Given the description of an element on the screen output the (x, y) to click on. 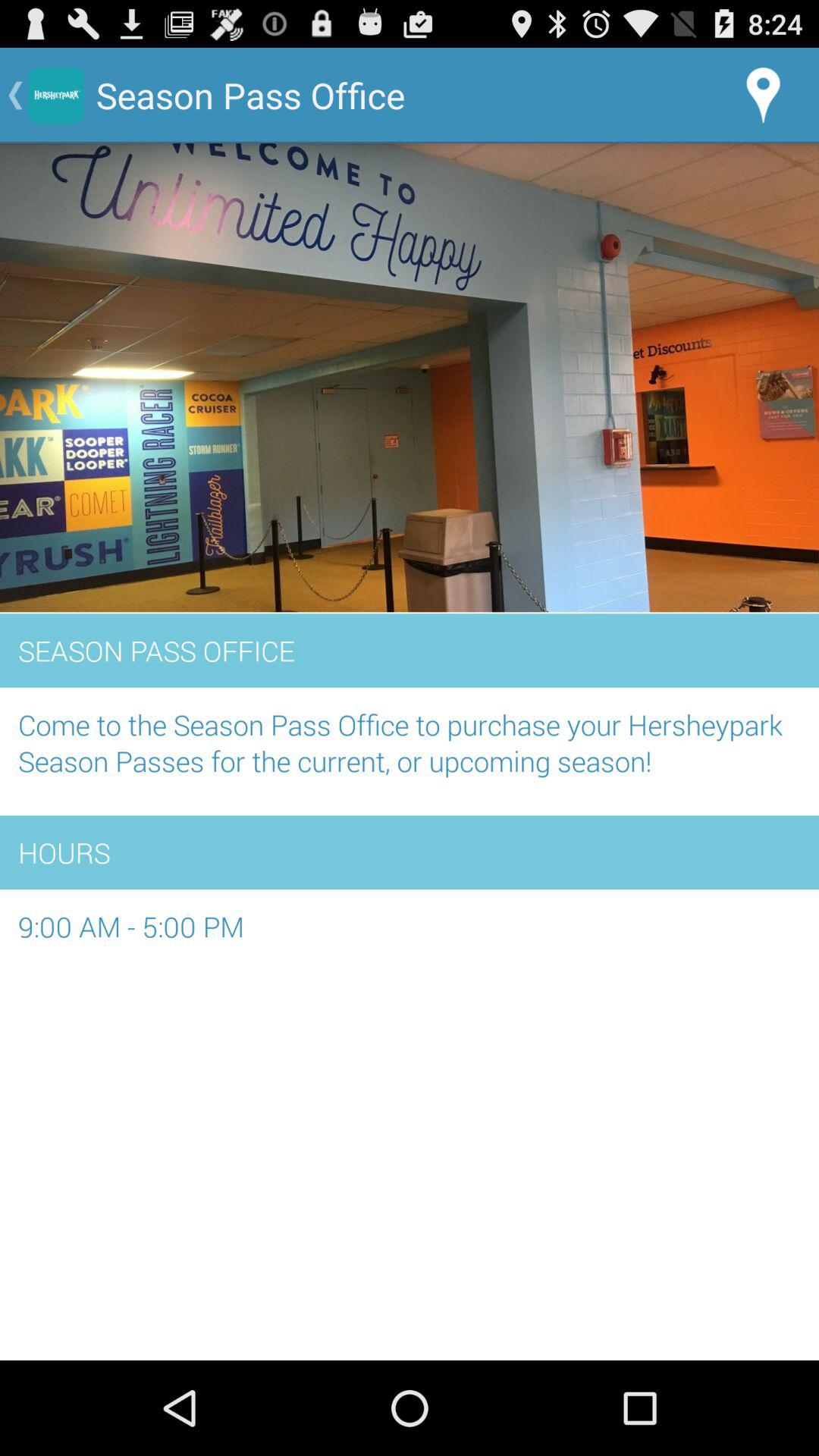
select the item at the top (409, 378)
